Given the description of an element on the screen output the (x, y) to click on. 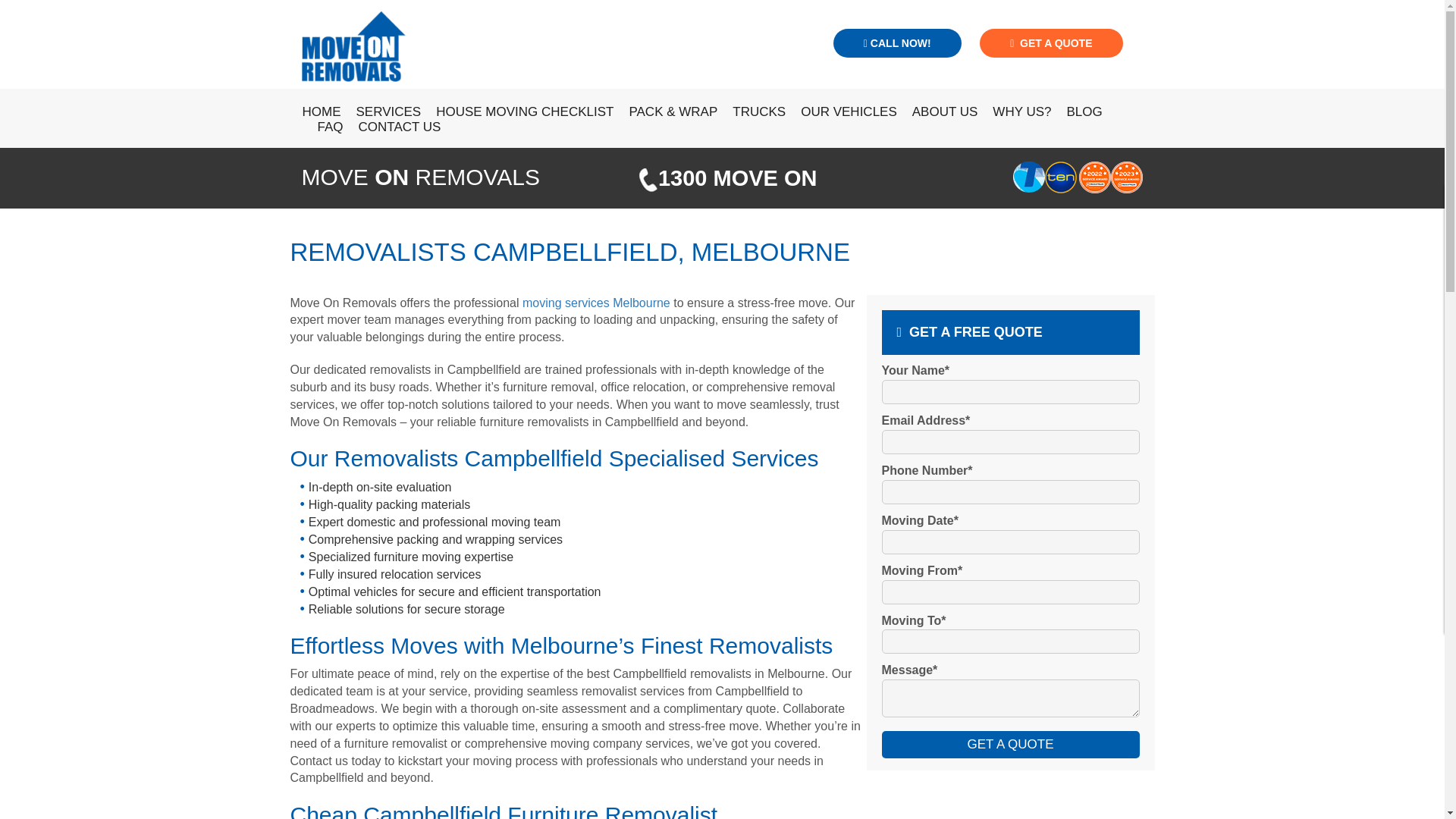
Get A Quote (1011, 744)
CALL NOW! (896, 42)
HOUSE MOVING CHECKLIST (516, 111)
OUR VEHICLES (841, 111)
5 star rated moving company Melbourne (1126, 177)
TRUCKS (751, 111)
SERVICES (381, 111)
FAQ (321, 127)
Get A Quote (1011, 744)
1300 MOVE ON (737, 178)
moving services Melbourne (595, 301)
WHY US? (1013, 111)
CONTACT US (392, 127)
ABOUT US (937, 111)
Channel 10 (1061, 177)
